Given the description of an element on the screen output the (x, y) to click on. 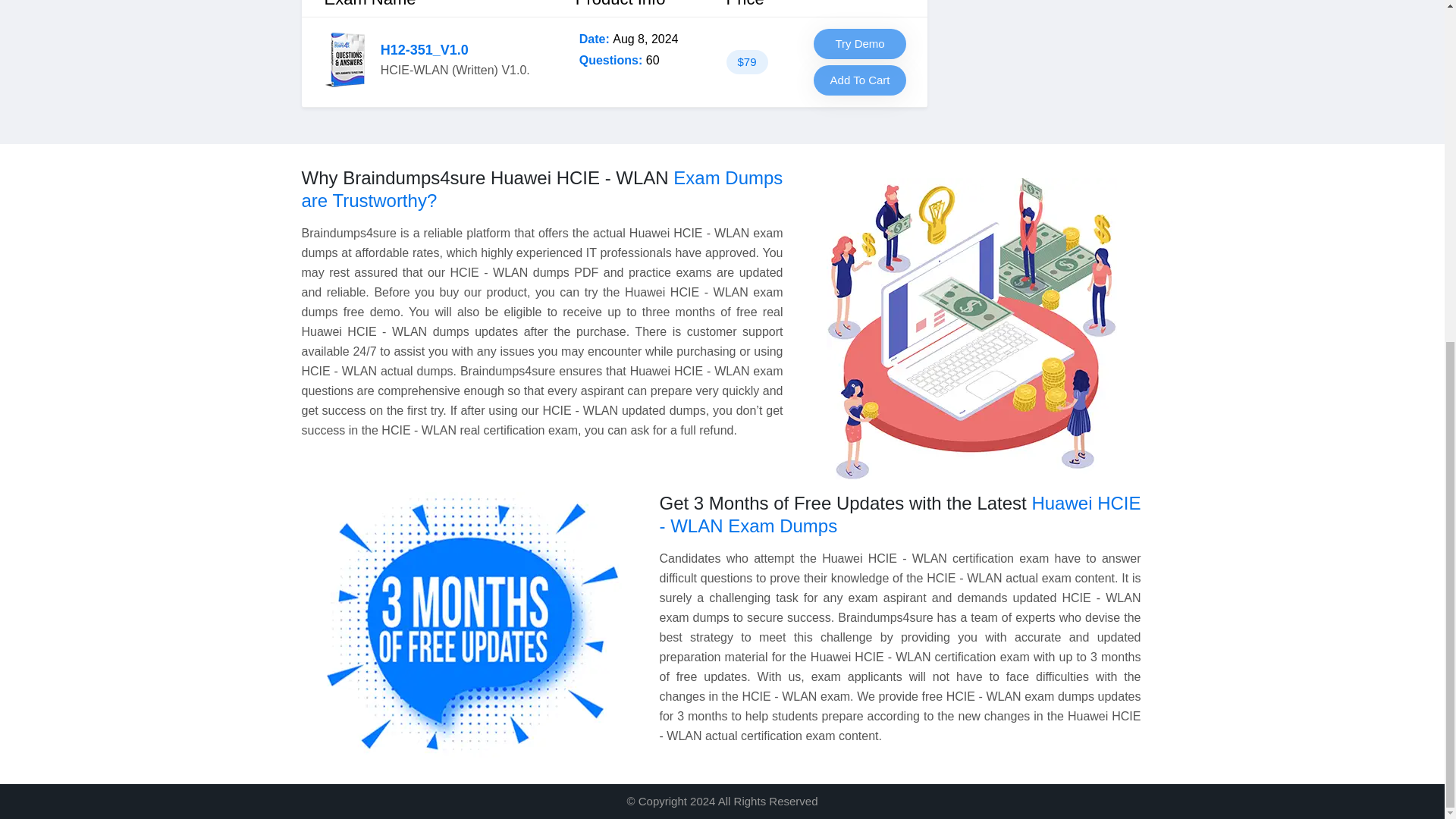
Try Demo (860, 43)
Try Demo (860, 43)
Add To Cart (860, 80)
